Given the description of an element on the screen output the (x, y) to click on. 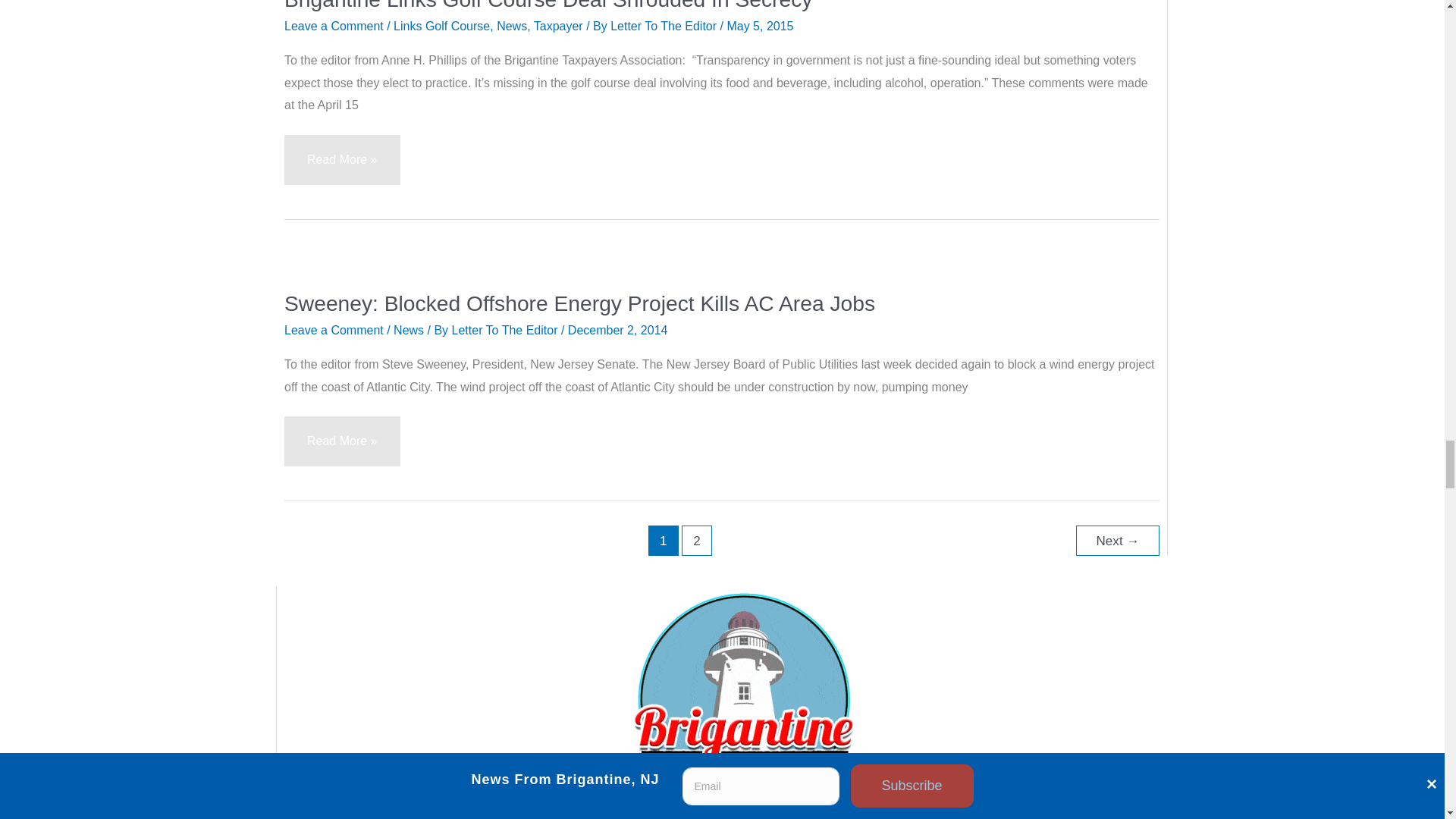
View all posts by Letter To The Editor (505, 329)
View all posts by Letter To The Editor (664, 25)
